Given the description of an element on the screen output the (x, y) to click on. 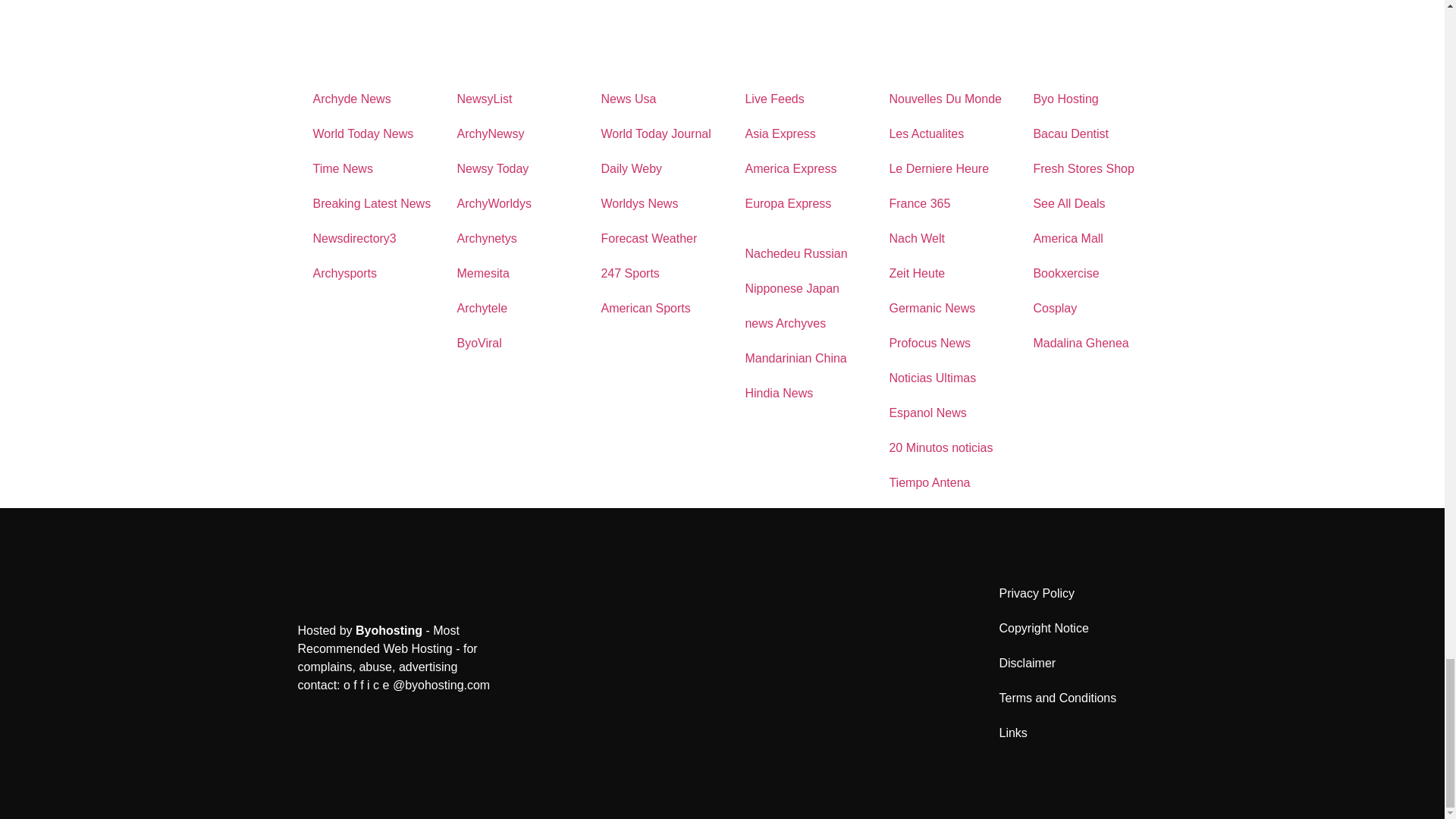
Most Recommended WebHosting (388, 630)
